Given the description of an element on the screen output the (x, y) to click on. 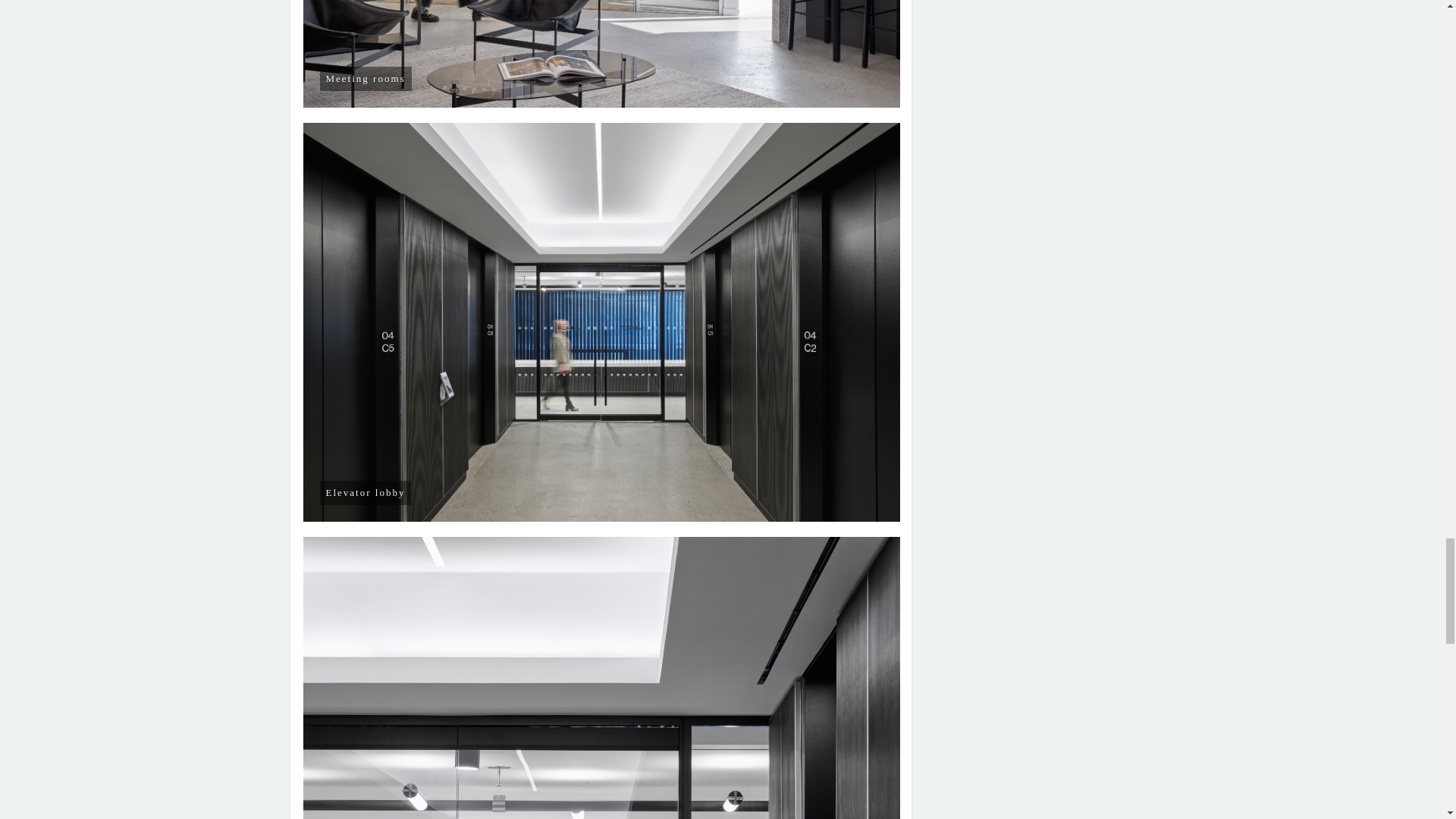
Meeting rooms (601, 54)
